Given the description of an element on the screen output the (x, y) to click on. 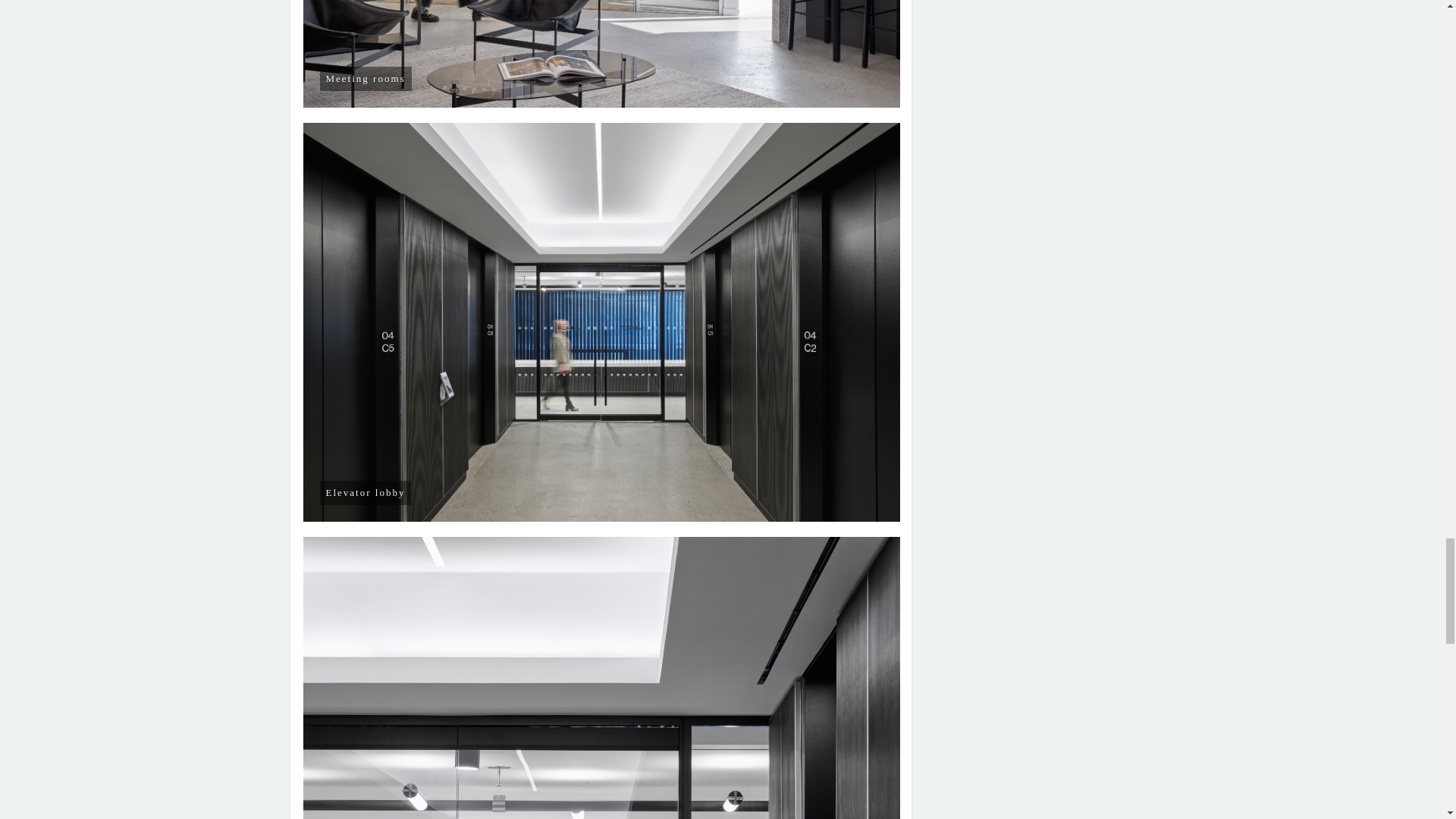
Meeting rooms (601, 54)
